Given the description of an element on the screen output the (x, y) to click on. 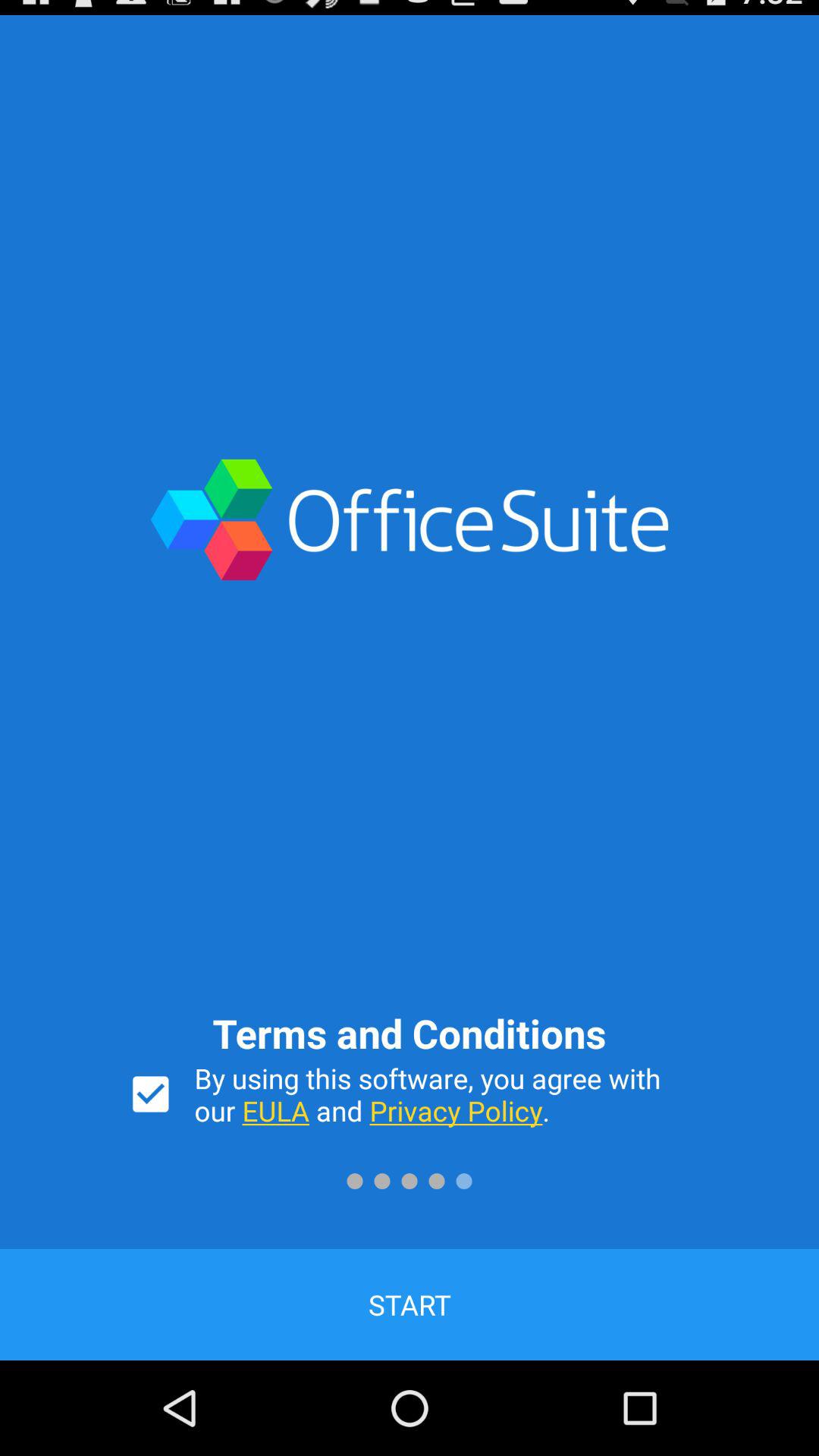
tap the icon next to by using this app (150, 1093)
